Given the description of an element on the screen output the (x, y) to click on. 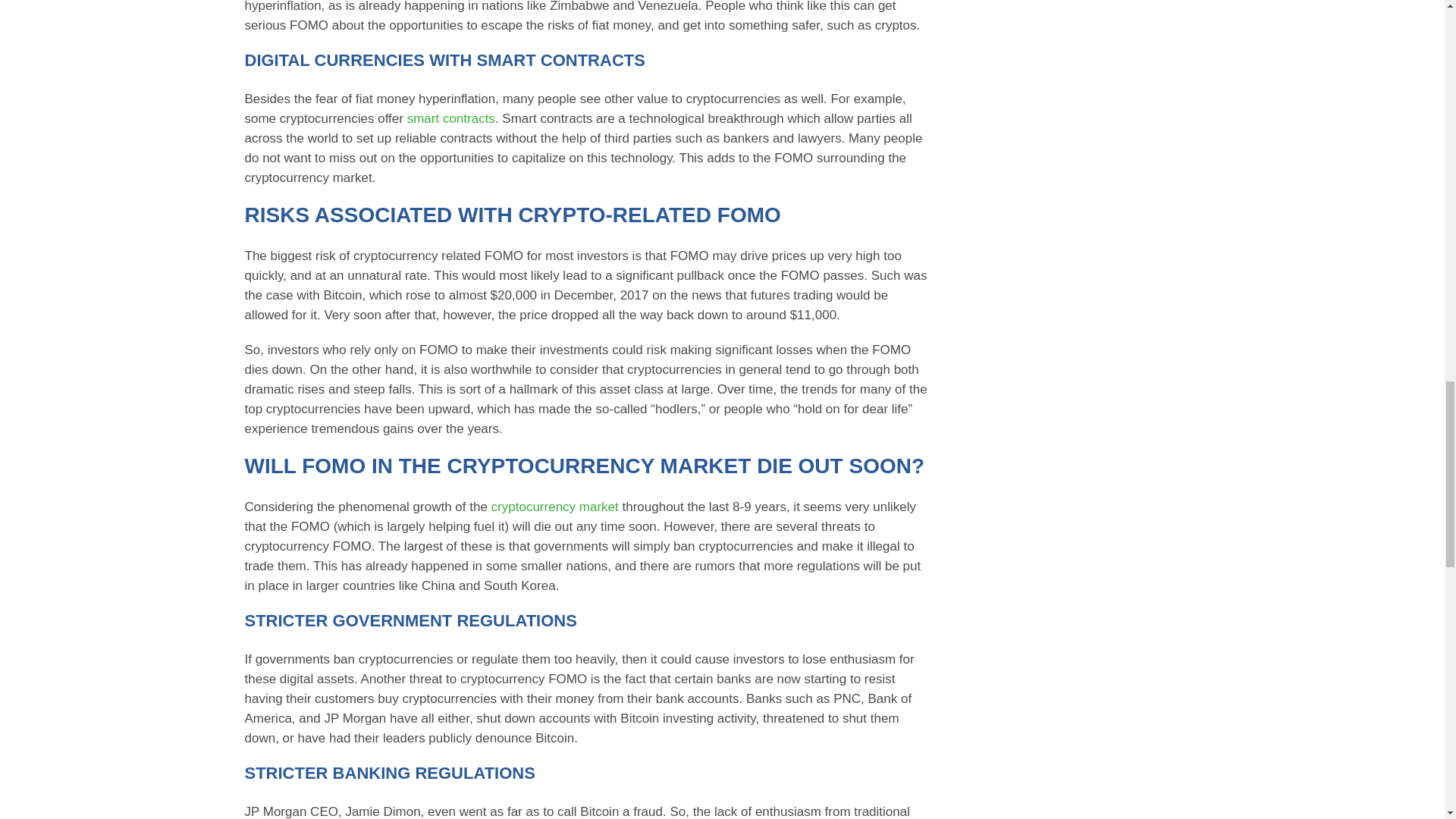
smart contracts (451, 118)
cryptocurrency market (555, 506)
